Given the description of an element on the screen output the (x, y) to click on. 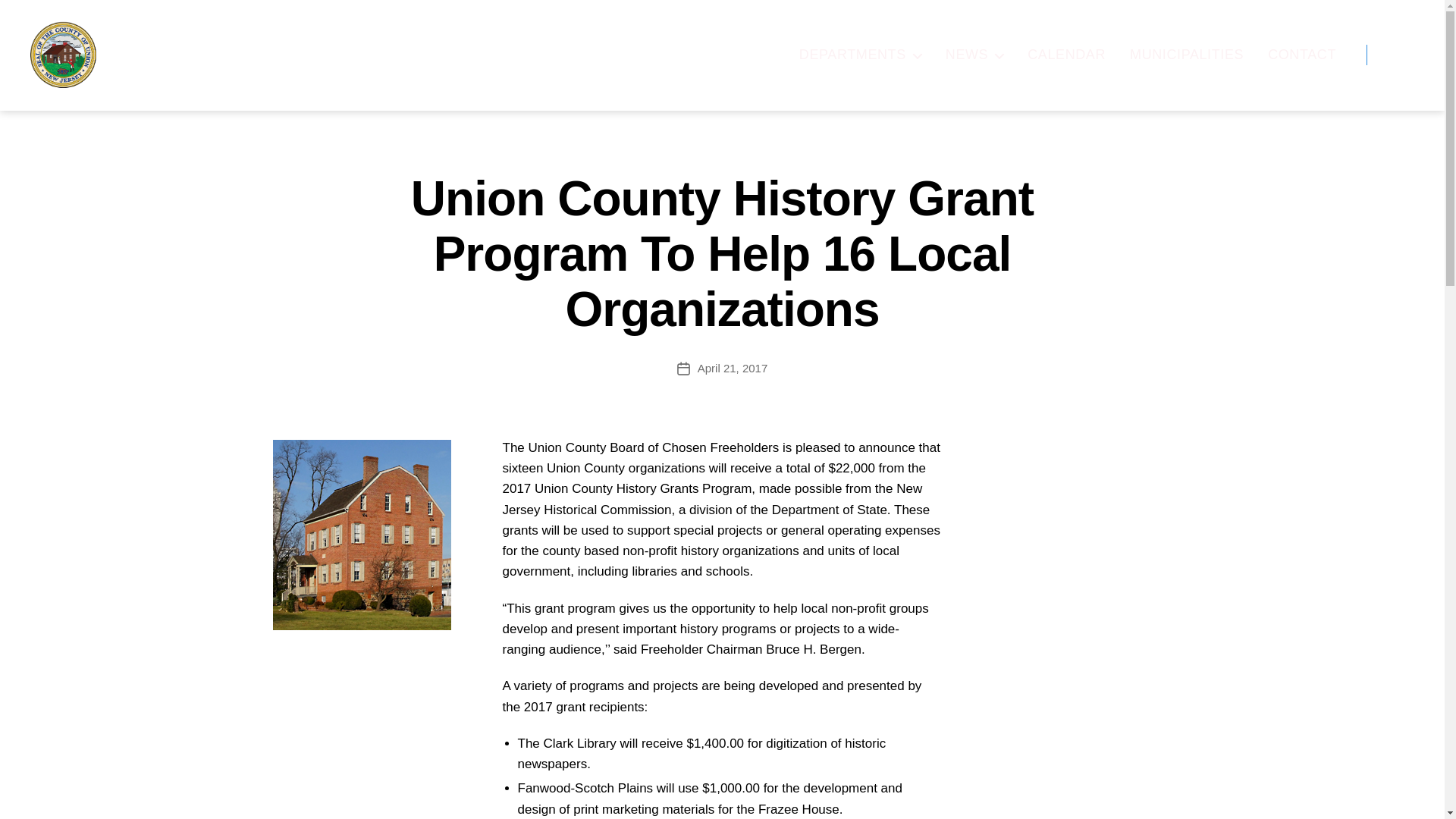
MUNICIPALITIES (1186, 54)
CONTACT (1302, 54)
CALENDAR (1066, 54)
NEWS (973, 54)
DEPARTMENTS (860, 54)
